Given the description of an element on the screen output the (x, y) to click on. 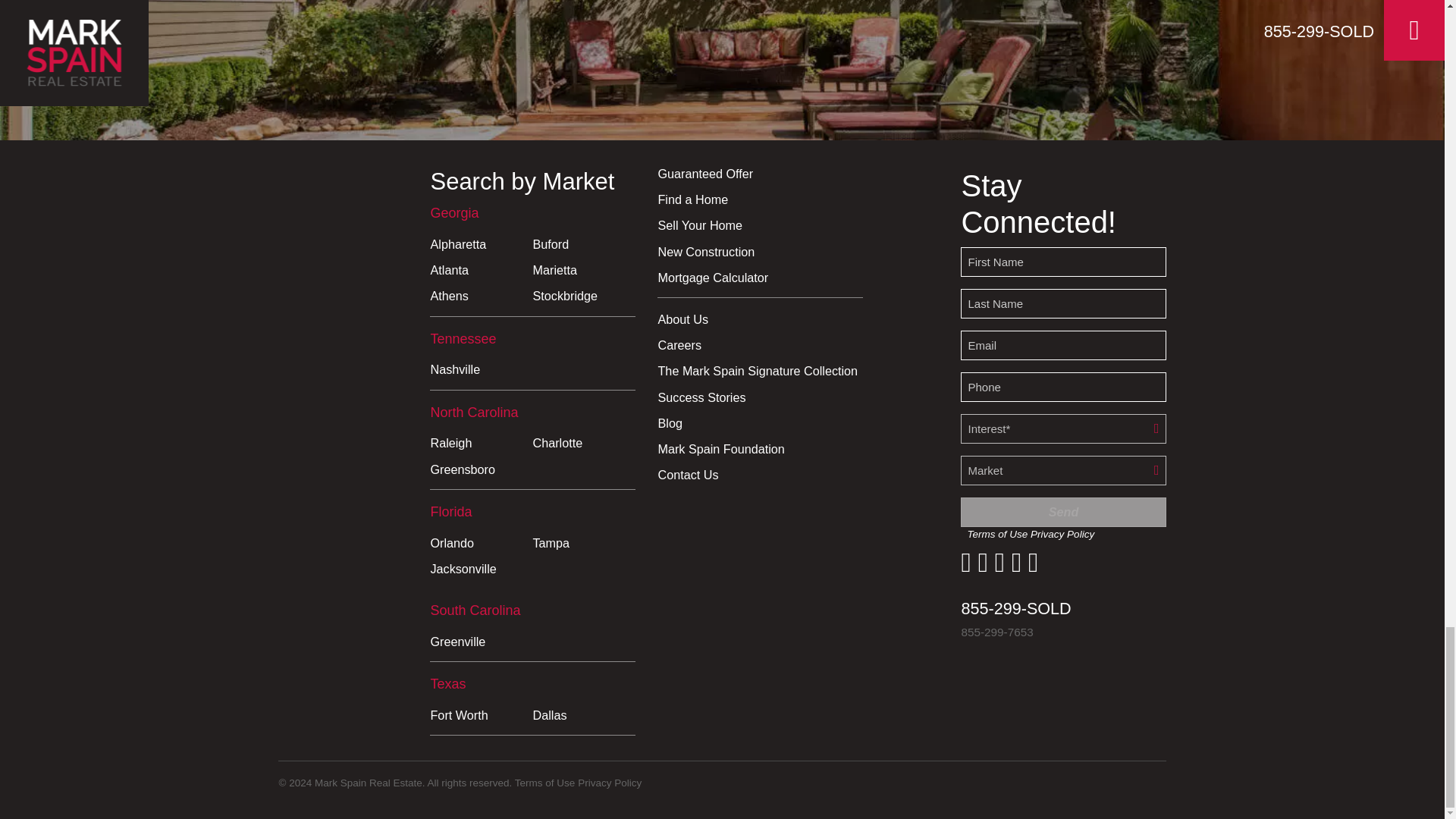
Terms of Use (545, 782)
Send (1063, 512)
Privacy Policy (1062, 533)
Privacy Policy (610, 782)
